Given the description of an element on the screen output the (x, y) to click on. 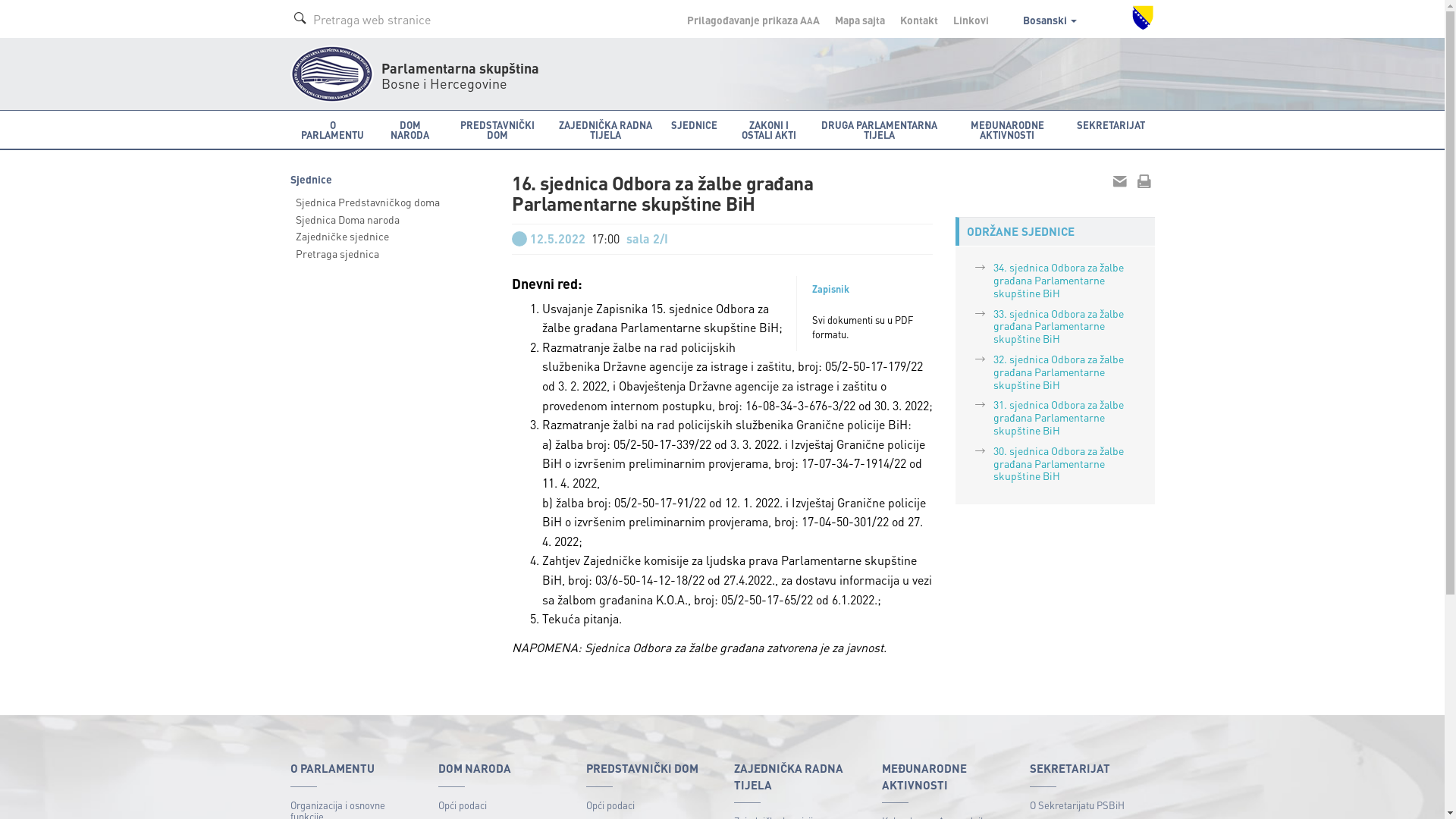
O PARLAMENTU Element type: text (332, 129)
DOM NARODA Element type: text (409, 129)
Mapa sajta Element type: text (859, 19)
Zapisnik Element type: text (830, 288)
Pretraga sjednica Element type: text (389, 253)
Linkovi Element type: text (970, 19)
SJEDNICE Element type: text (694, 129)
DRUGA PARLAMENTARNA TIJELA Element type: text (878, 129)
Sjednica Doma naroda Element type: text (389, 219)
O Sekretarijatu PSBiH Element type: text (1091, 805)
Kontakt Element type: text (918, 19)
Bosanski Element type: text (1049, 19)
ZAKONI I OSTALI AKTI Element type: text (768, 129)
SEKRETARIJAT Element type: text (1110, 129)
